Given the description of an element on the screen output the (x, y) to click on. 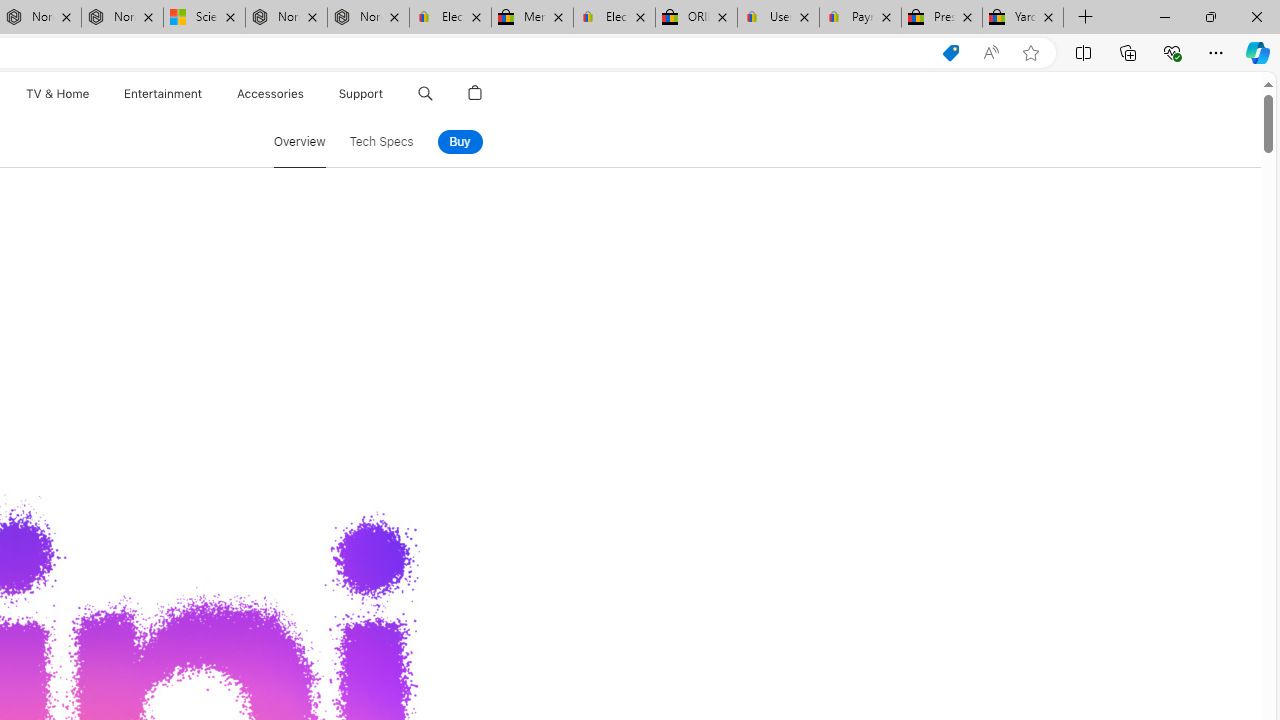
Tech Specs (381, 141)
TV and Home (56, 93)
Shopping Bag (475, 93)
Class: globalnav-item globalnav-search shift-0-1 (425, 93)
Electronics, Cars, Fashion, Collectibles & More | eBay (614, 17)
Accessories (269, 93)
Payments Terms of Use | eBay.com (860, 17)
Search apple.com (425, 93)
AutomationID: globalnav-bag (475, 93)
